Given the description of an element on the screen output the (x, y) to click on. 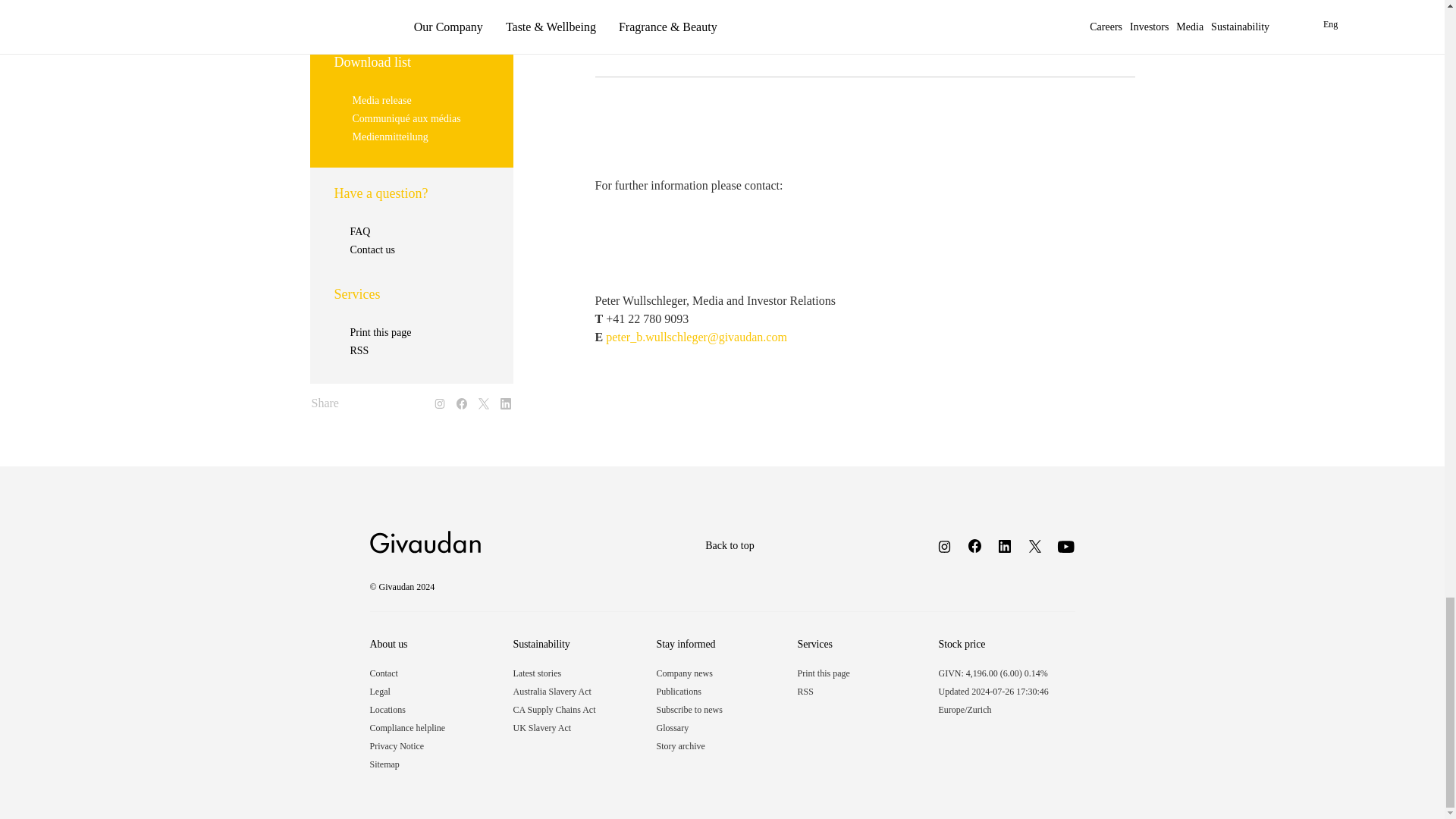
Instagram (938, 549)
LinkedIn (999, 548)
Twitter (1029, 548)
Facebook (968, 548)
Youtube (1060, 549)
